Given the description of an element on the screen output the (x, y) to click on. 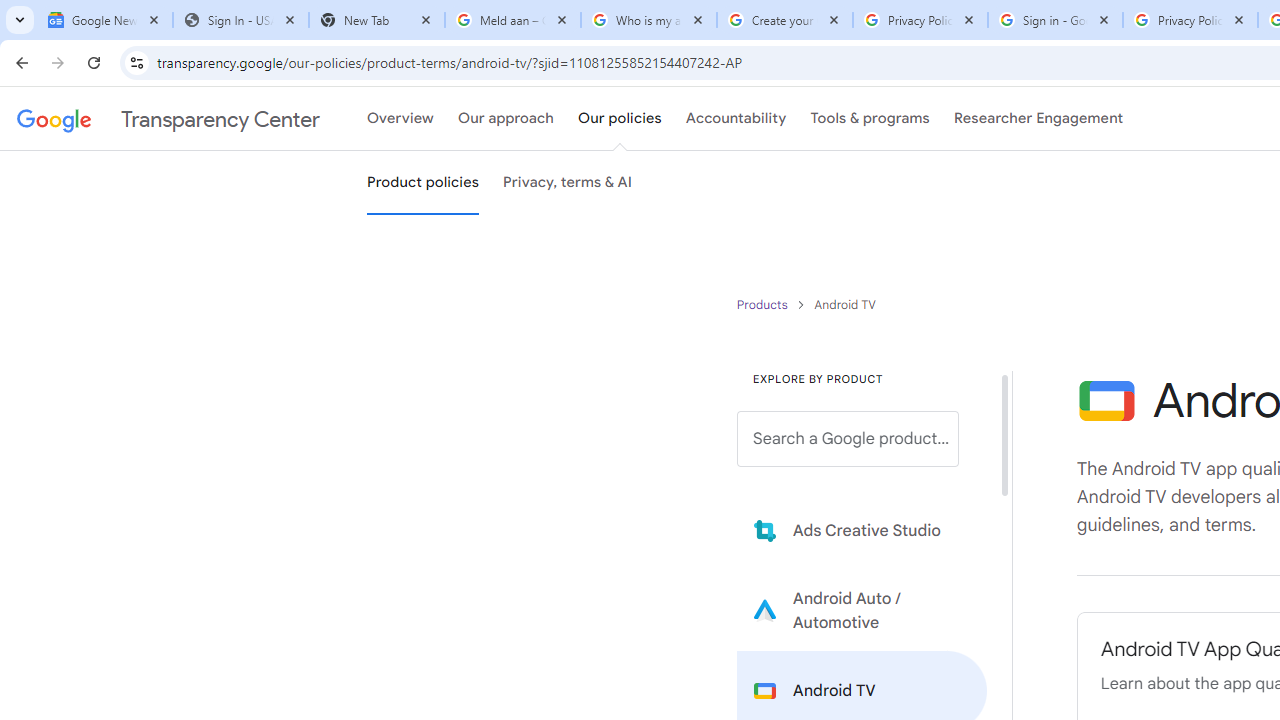
Researcher Engagement (1038, 119)
Who is my administrator? - Google Account Help (648, 20)
Learn more about Ads Creative Studio (862, 530)
Search a Google product from below list. (847, 439)
Create your Google Account (784, 20)
Learn more about Ads Creative Studio (862, 530)
Sign in - Google Accounts (1055, 20)
Sign In - USA TODAY (240, 20)
Google News (104, 20)
Accountability (735, 119)
Our approach (506, 119)
